Given the description of an element on the screen output the (x, y) to click on. 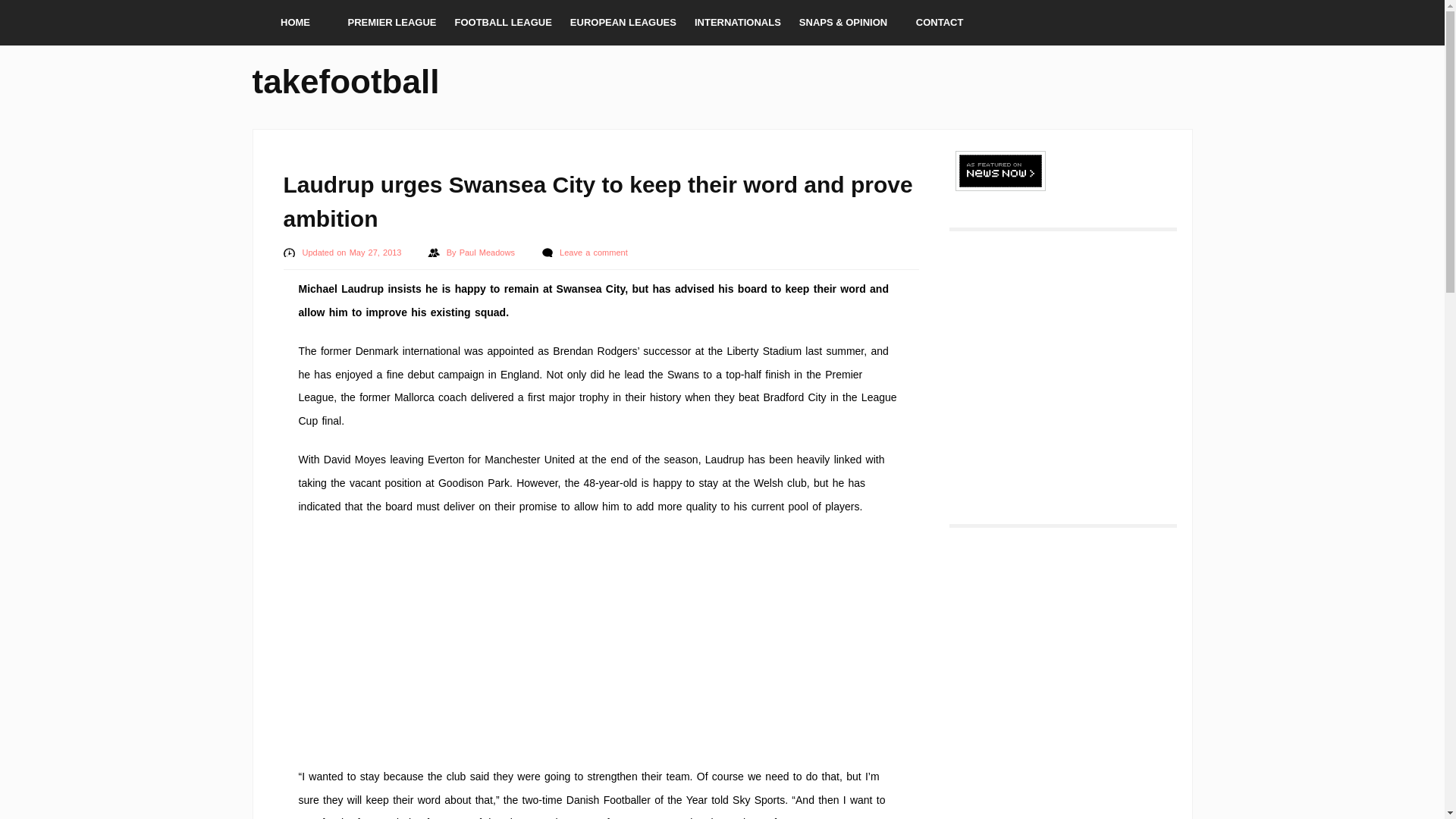
PREMIER LEAGUE (391, 22)
INTERNATIONALS (737, 22)
Paul Meadows (489, 252)
CONTACT (939, 22)
takefootball (345, 79)
Advertisement (1058, 367)
Leave a comment (593, 252)
EUROPEAN LEAGUES (622, 22)
FOOTBALL LEAGUE (502, 22)
HOME (294, 22)
Advertisement (600, 639)
